Given the description of an element on the screen output the (x, y) to click on. 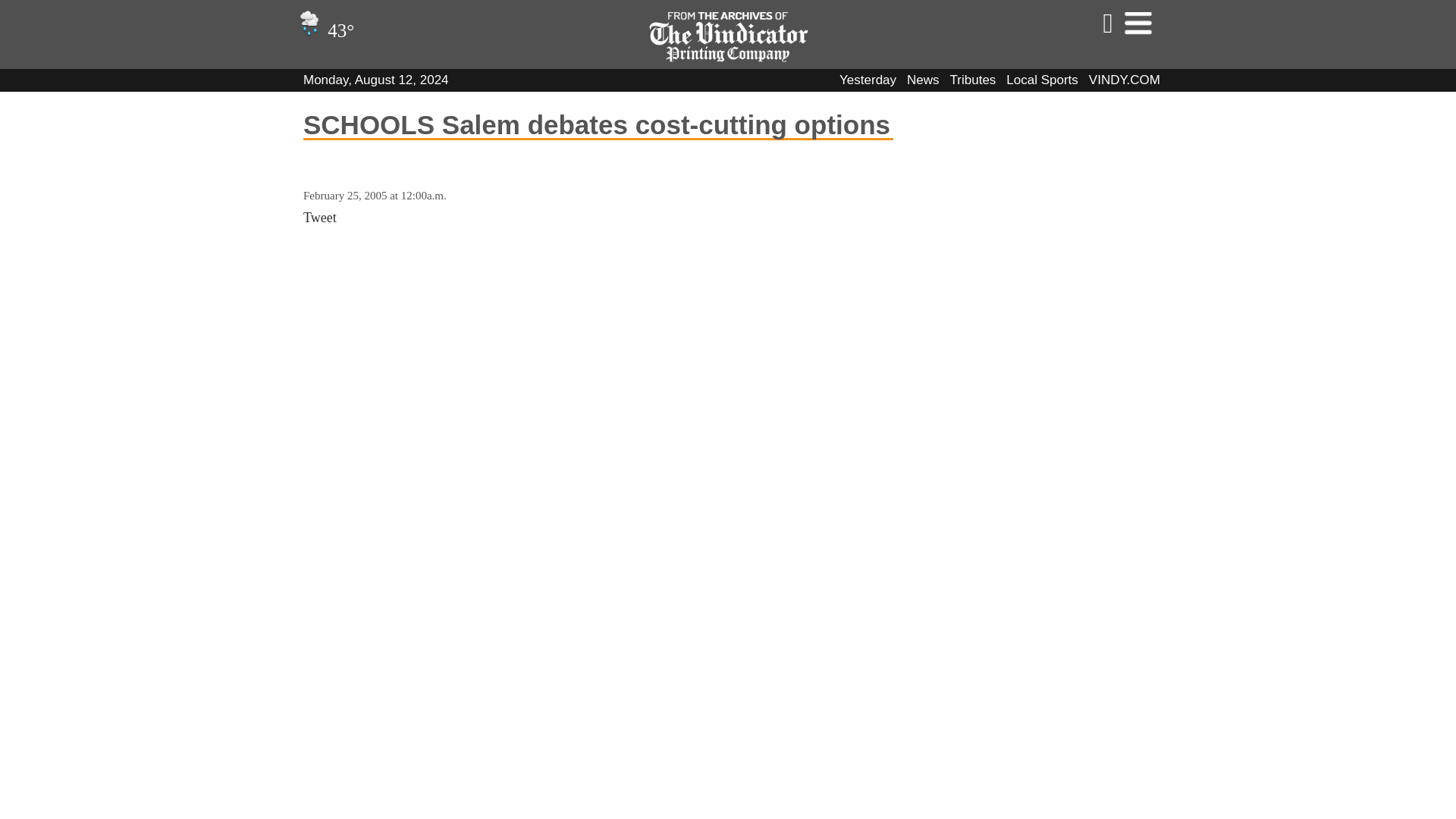
Tributes (972, 79)
Local Sports (1042, 79)
VINDY.COM (1124, 79)
Tweet (319, 217)
Yesterday (868, 79)
Monday, August 12, 2024 (375, 79)
News (923, 79)
